Given the description of an element on the screen output the (x, y) to click on. 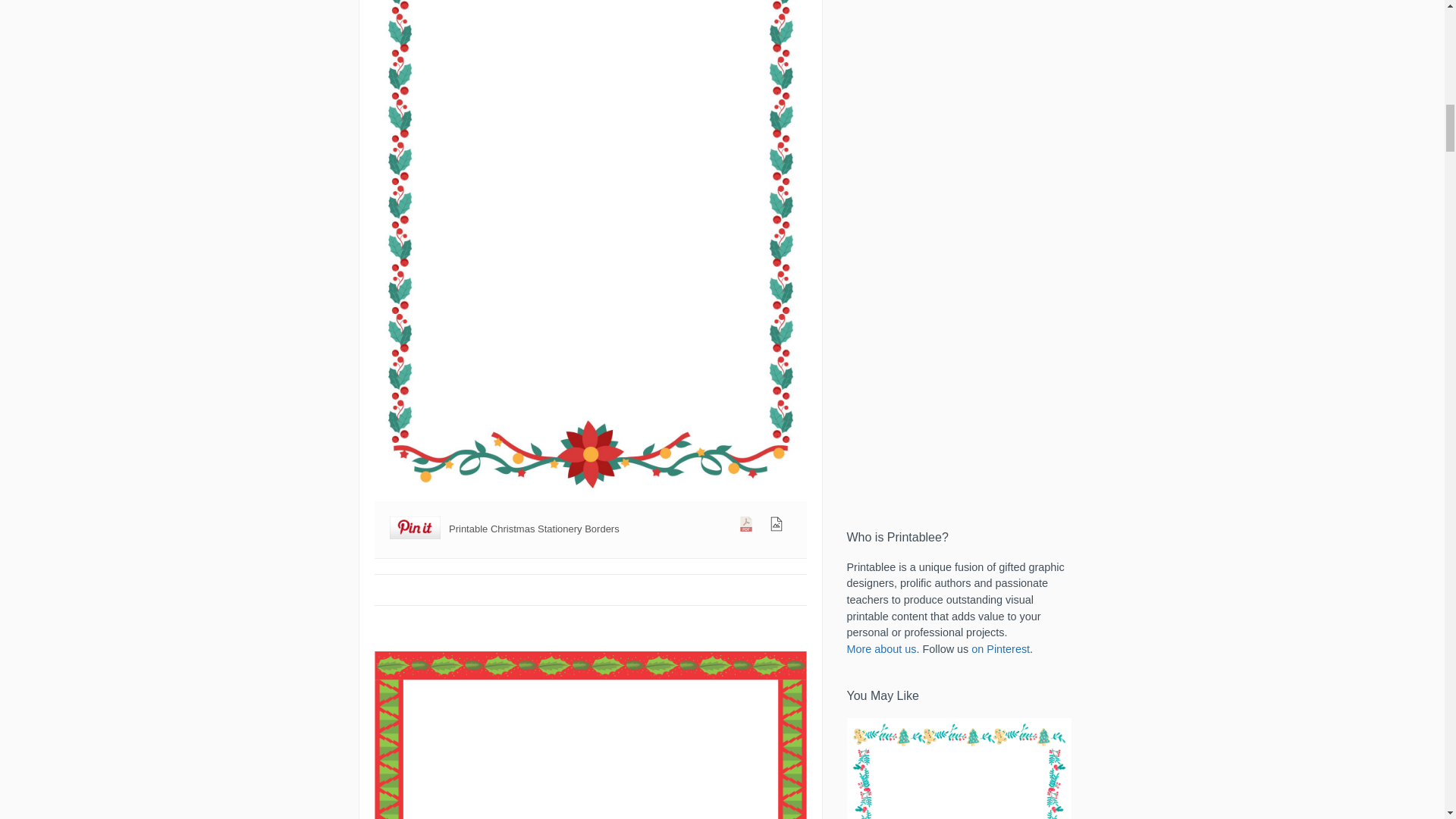
Pin it! (415, 528)
Download PDF: Printable Christmas Stationery Borders (746, 526)
Printable Christmas Stationery Borders (590, 735)
Download Image: Printable Christmas Stationery Borders (776, 526)
